Given the description of an element on the screen output the (x, y) to click on. 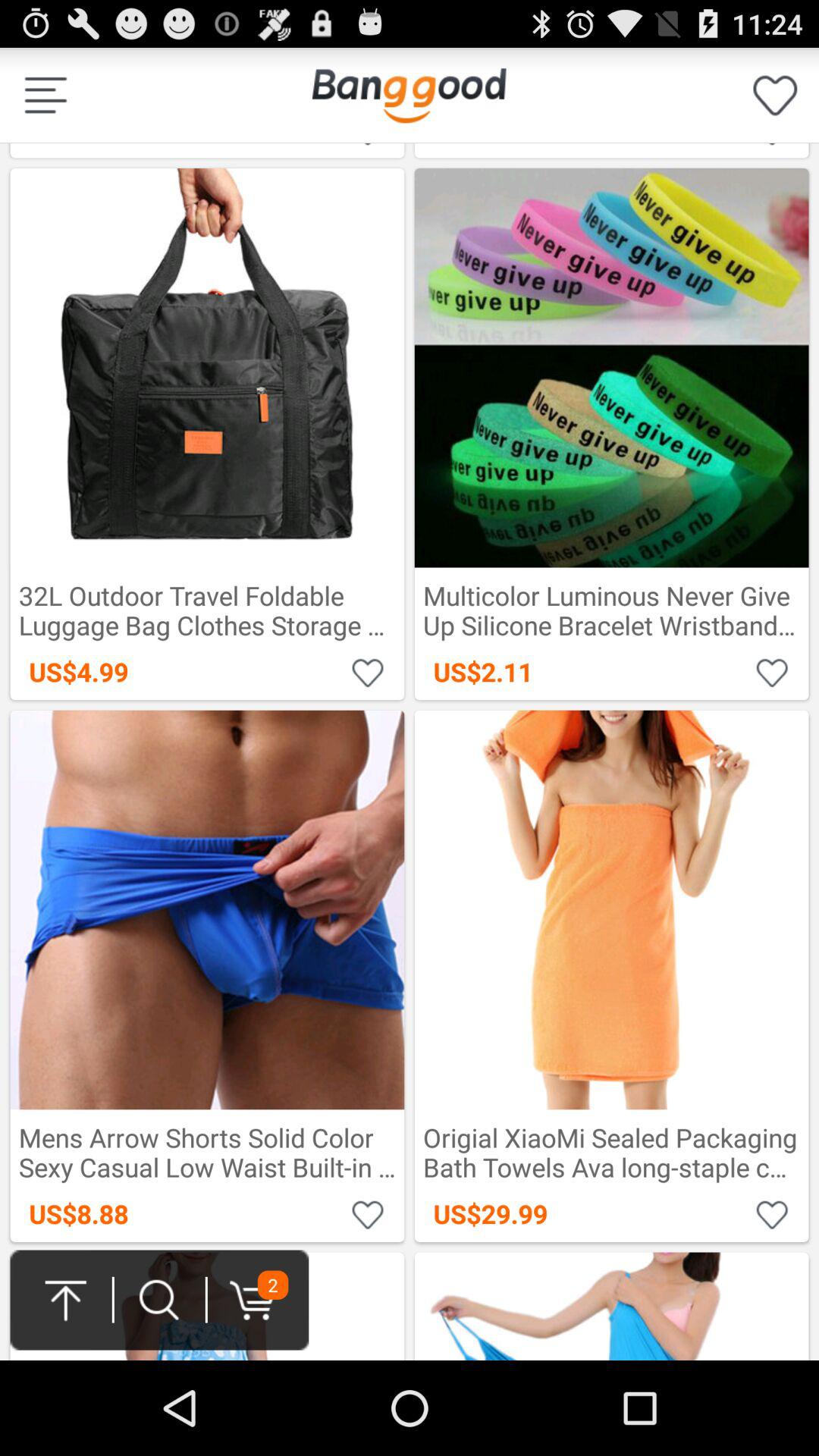
favorite mens arrow shorts (368, 1213)
